Given the description of an element on the screen output the (x, y) to click on. 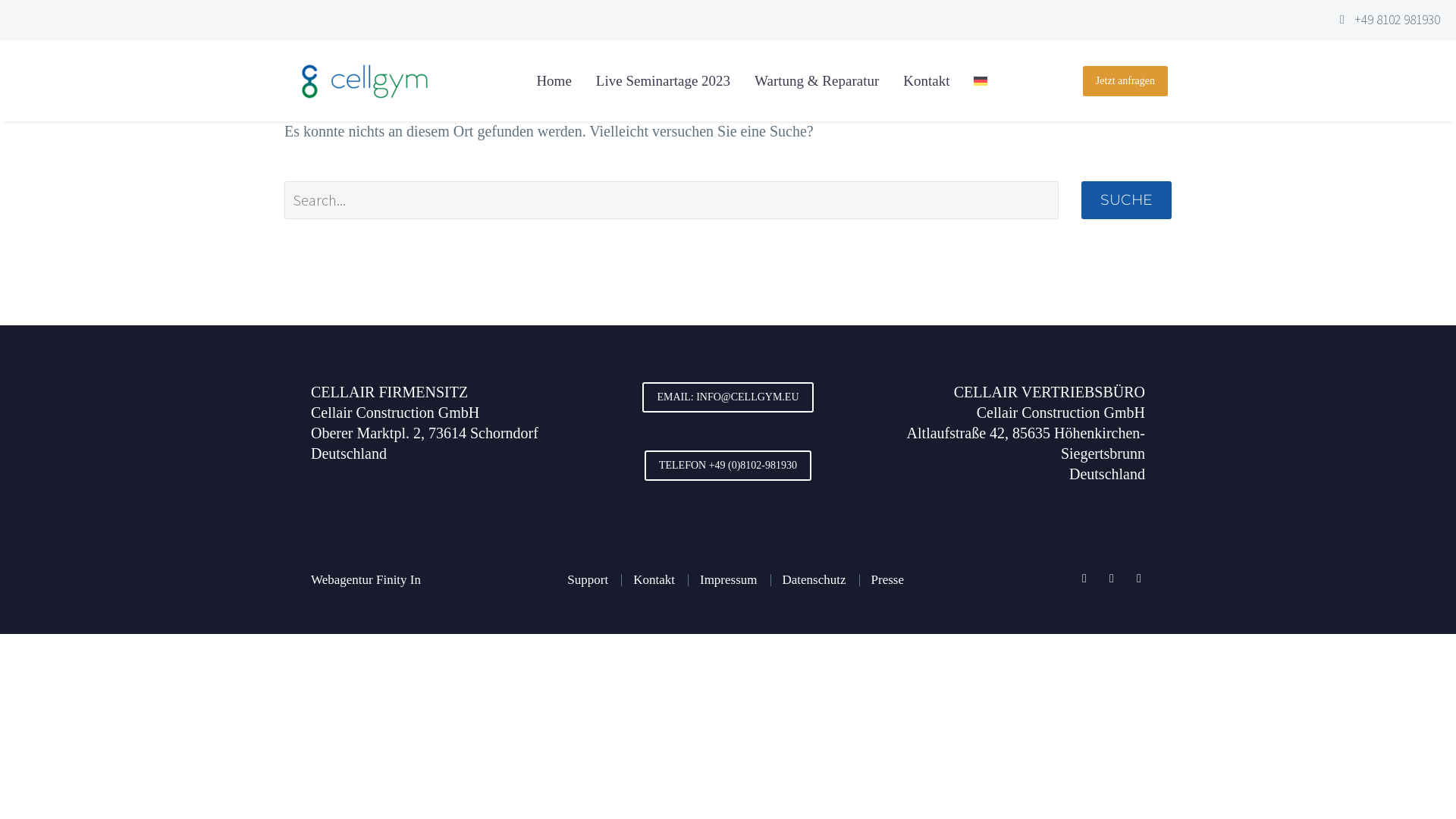
Webagentur Finity In Element type: text (365, 579)
Datenschutz Element type: text (814, 579)
Support Element type: text (587, 579)
Impressum Element type: text (728, 579)
Kontakt Element type: text (653, 579)
Kontakt Element type: text (926, 80)
Jetzt anfragen Element type: text (1124, 80)
EMAIL: INFO@CELLGYM.EU Element type: text (727, 397)
Home Element type: text (553, 80)
Live Seminartage 2023 Element type: text (662, 80)
TELEFON +49 (0)8102-981930 Element type: text (727, 465)
Presse Element type: text (887, 579)
Wartung & Reparatur Element type: text (816, 80)
SUCHE Element type: text (1126, 200)
